Given the description of an element on the screen output the (x, y) to click on. 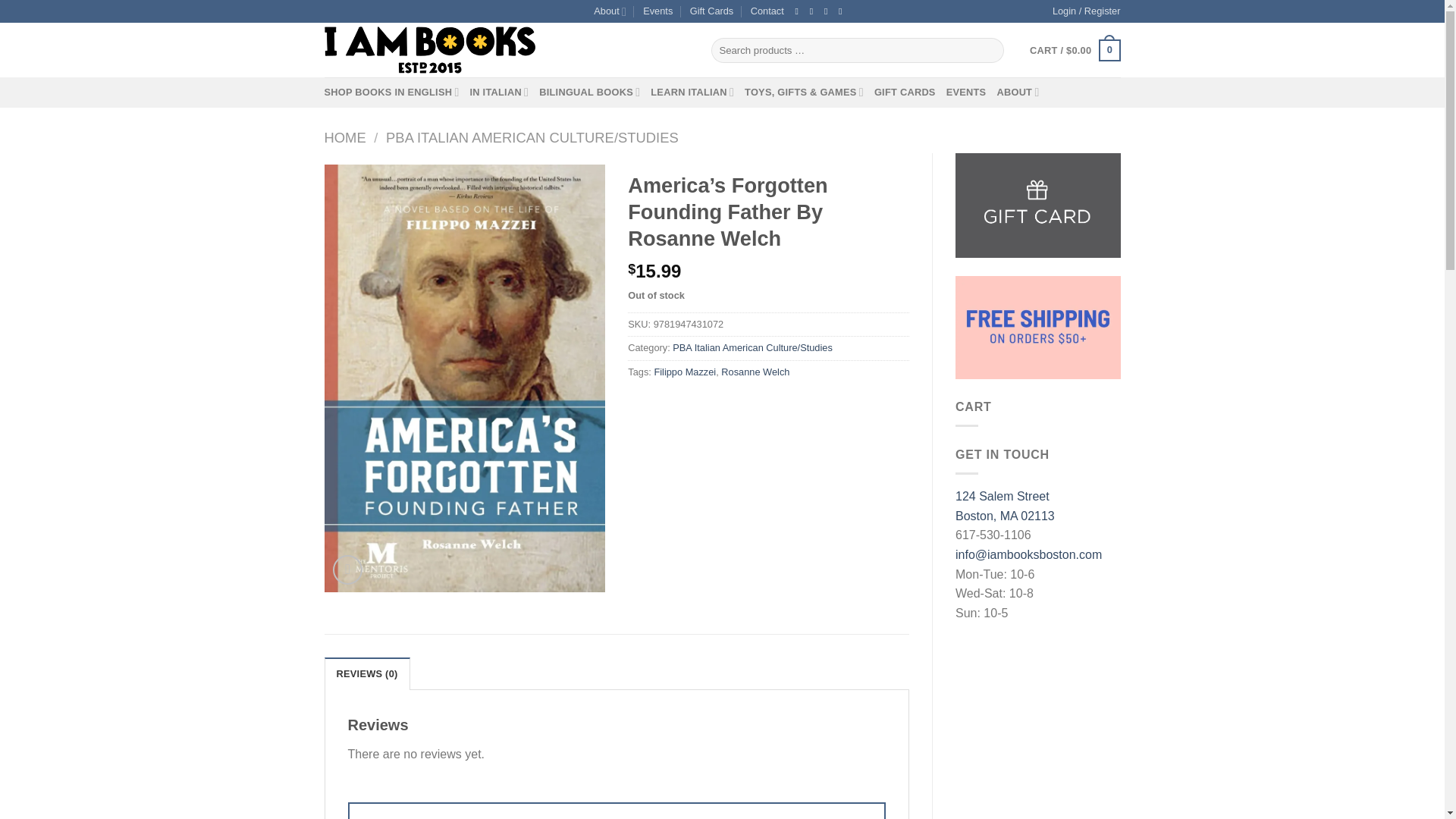
Zoom (347, 569)
About (610, 11)
Login (1086, 11)
Gift Cards (711, 11)
Contact (767, 11)
Cart (1074, 50)
Events (657, 11)
SHOP BOOKS IN ENGLISH (392, 91)
